Given the description of an element on the screen output the (x, y) to click on. 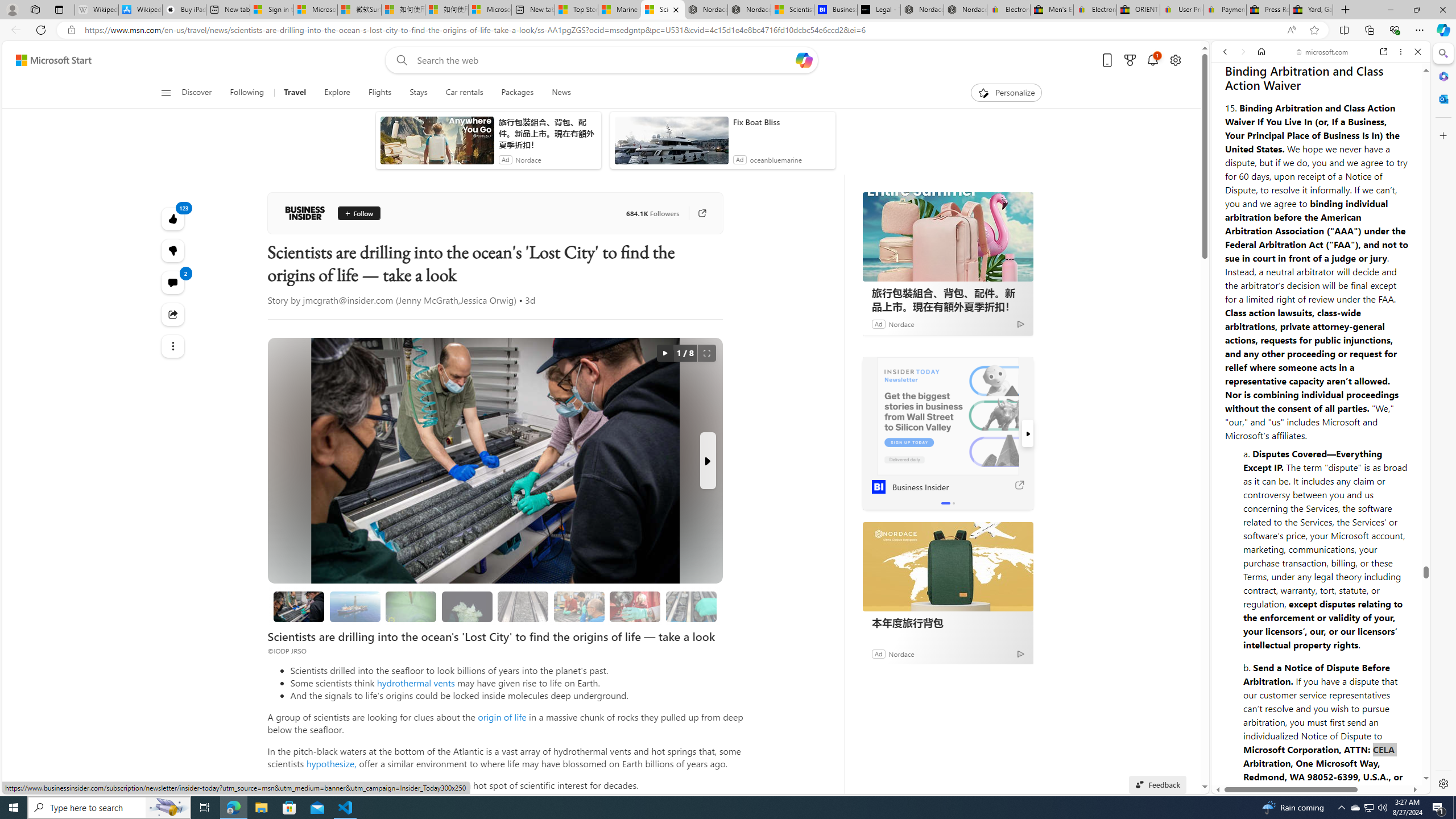
Payments Terms of Use | eBay.com (1224, 9)
Car rentals (464, 92)
oceanbluemarine (775, 159)
